Given the description of an element on the screen output the (x, y) to click on. 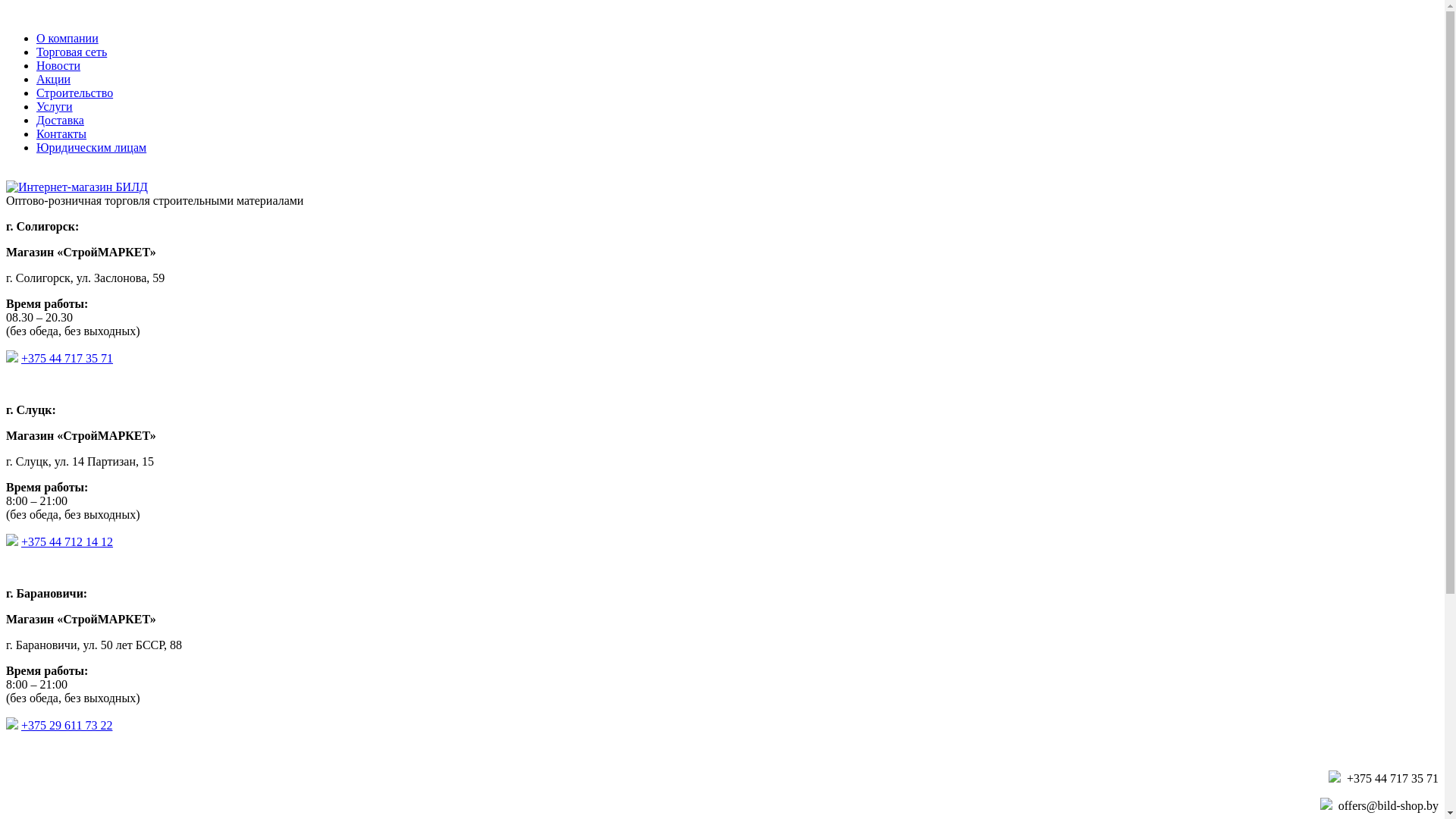
+375 44 712 14 12 Element type: text (66, 541)
offers@bild-shop.by Element type: text (1388, 805)
+375 44 717 35 71 Element type: text (1392, 777)
+375 29 611 73 22 Element type: text (66, 724)
+375 44 717 35 71 Element type: text (66, 357)
